Given the description of an element on the screen output the (x, y) to click on. 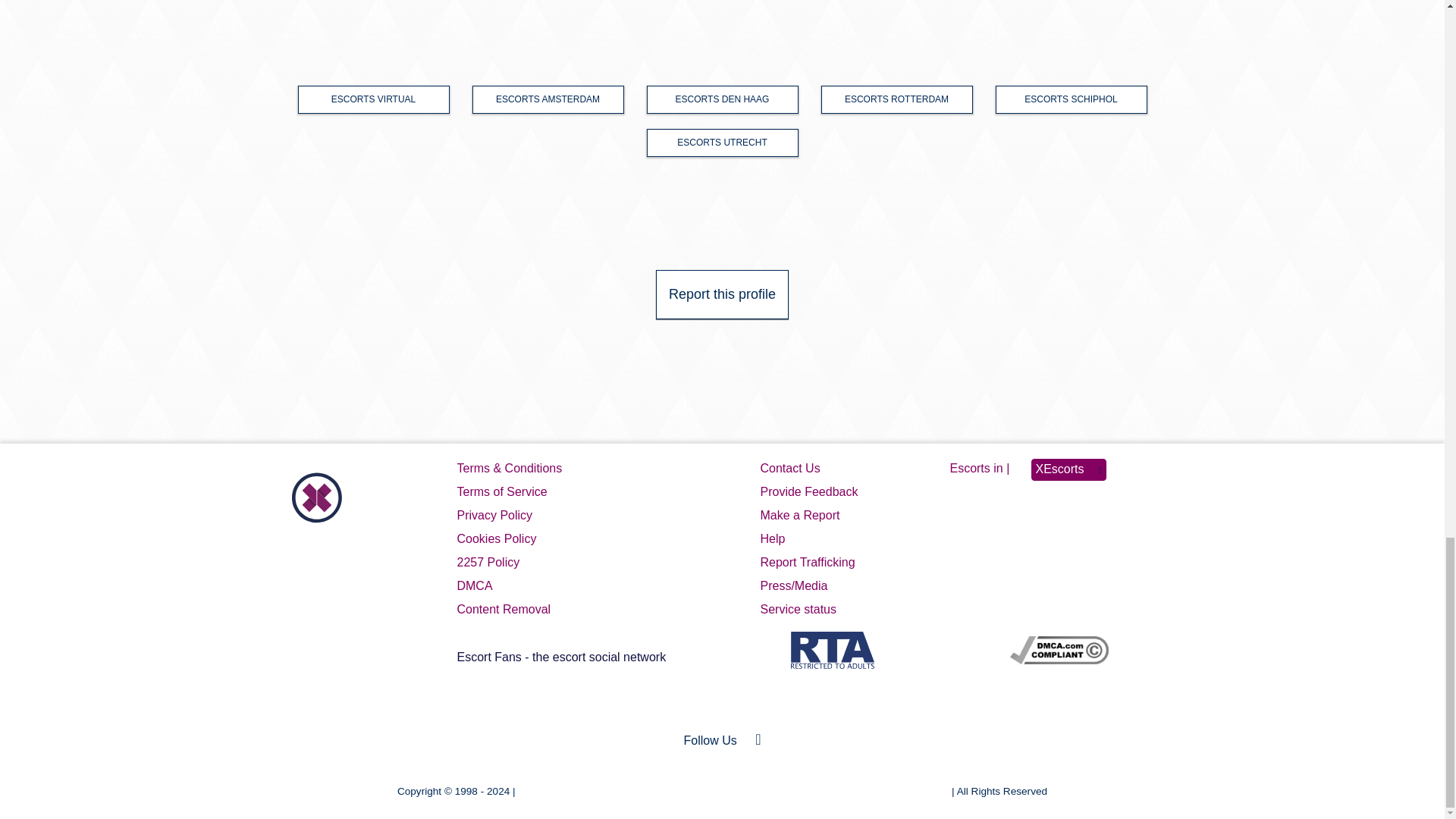
DMCA Compliance information for xescorts.com (1059, 653)
